Given the description of an element on the screen output the (x, y) to click on. 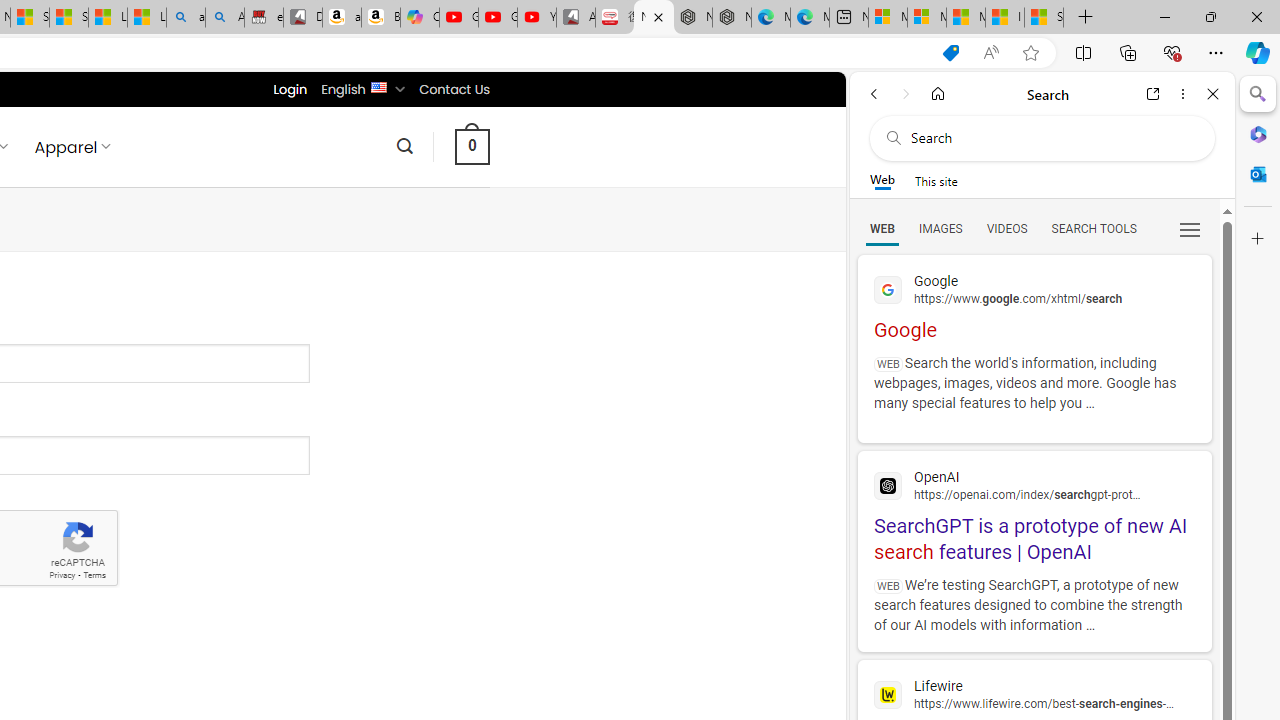
Outlook (1258, 174)
Global web icon (888, 694)
